Given the description of an element on the screen output the (x, y) to click on. 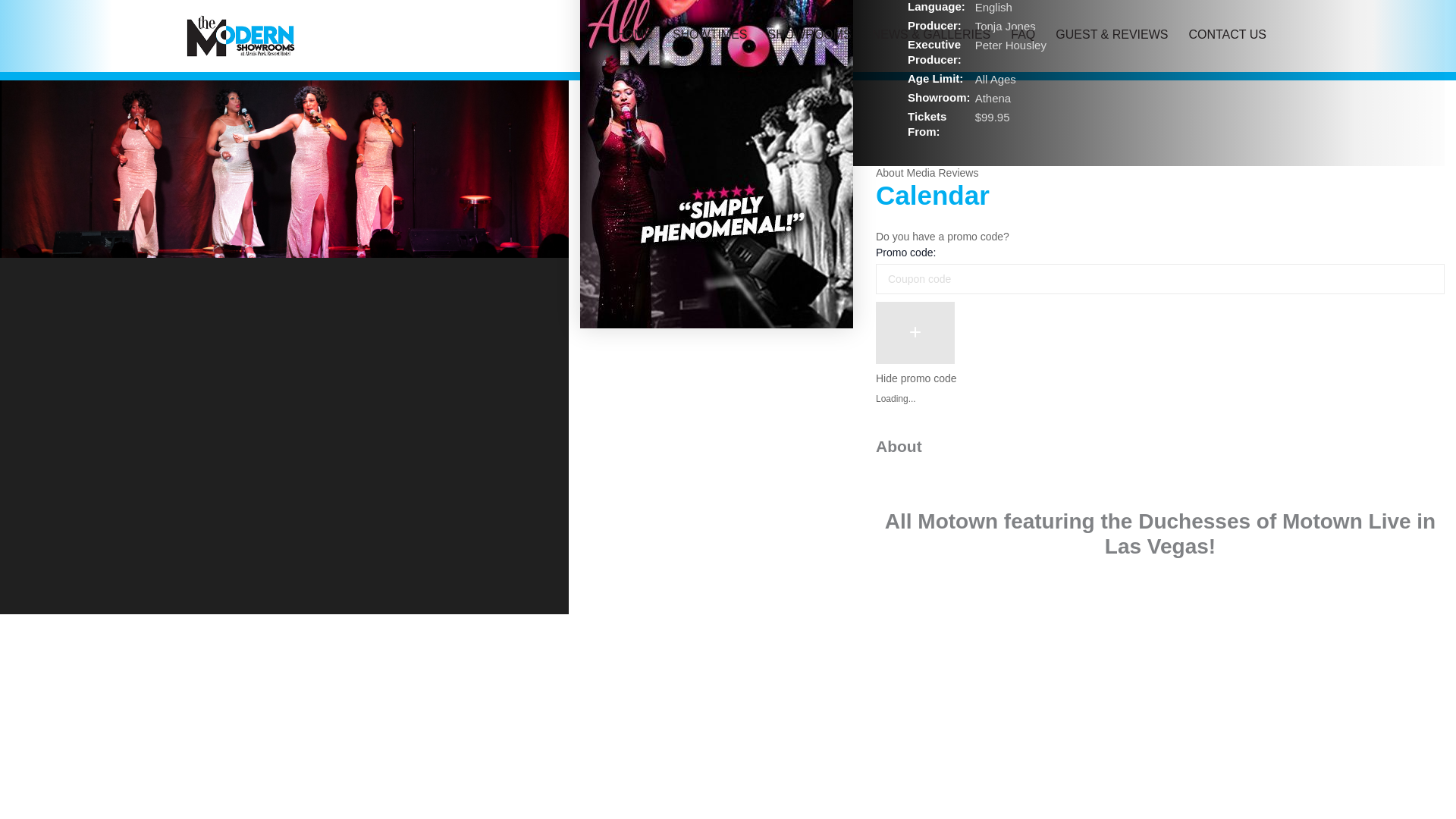
SHOWTIMES (710, 34)
Hide promo code (916, 378)
CONTACT US (1227, 34)
SHOWROOMS (809, 34)
FAQ (1022, 34)
About (890, 173)
Reviews (958, 173)
Media (919, 173)
HOME (633, 34)
Do you have a promo code? (942, 236)
